Given the description of an element on the screen output the (x, y) to click on. 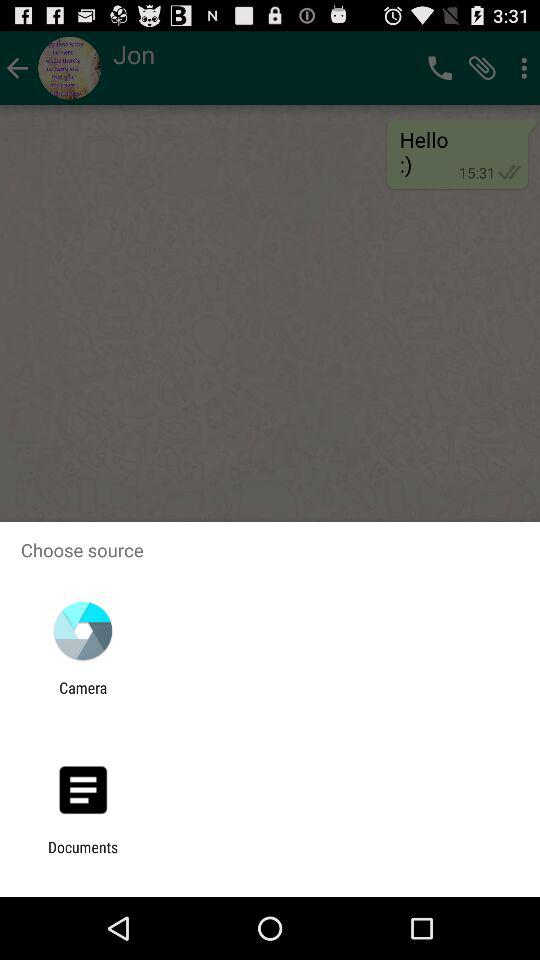
scroll until camera item (83, 696)
